Given the description of an element on the screen output the (x, y) to click on. 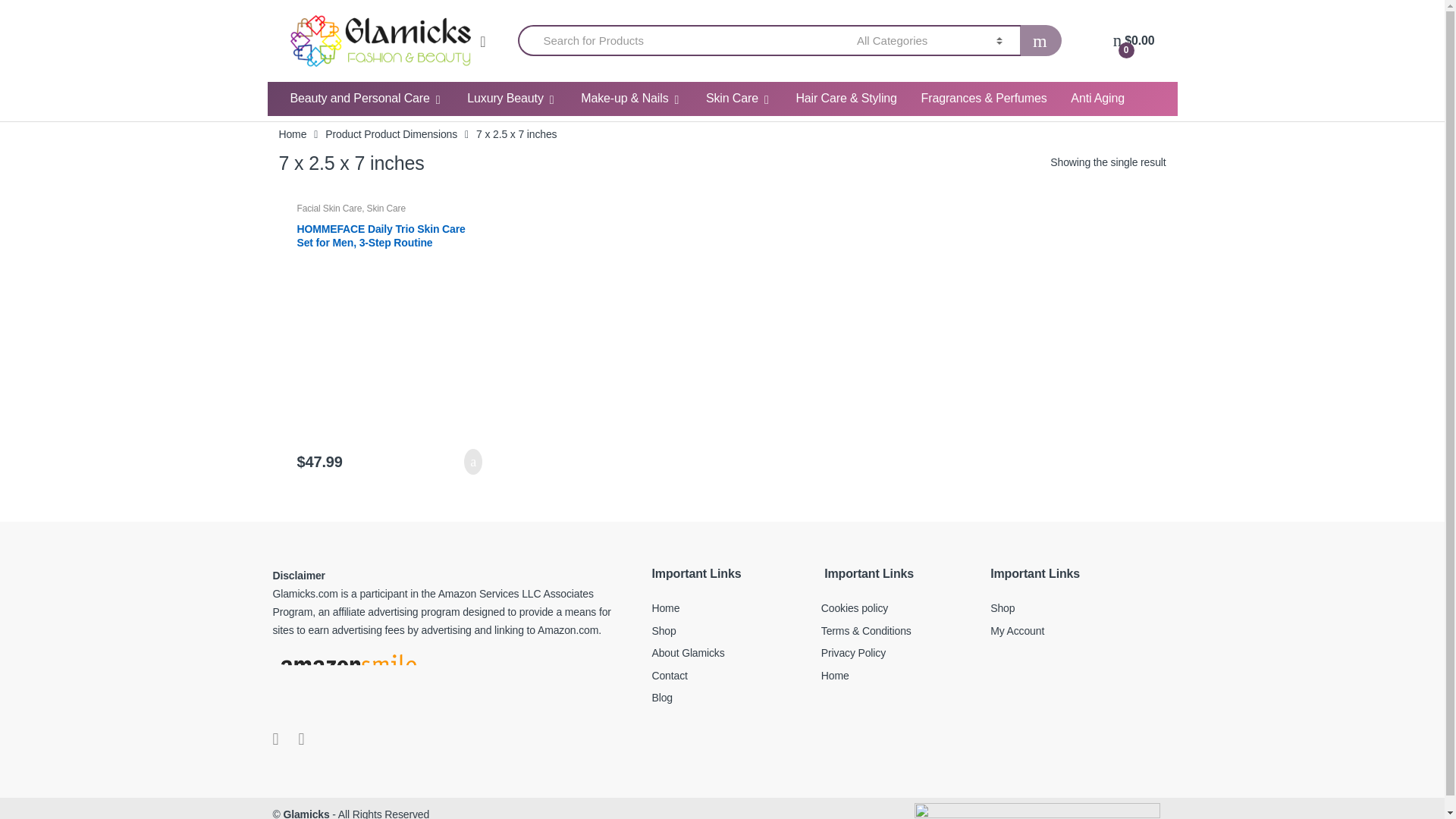
Beauty and Personal Care (365, 98)
Luxury Beauty (511, 98)
Skin Care (738, 98)
Beauty and Personal Care (365, 98)
